Given the description of an element on the screen output the (x, y) to click on. 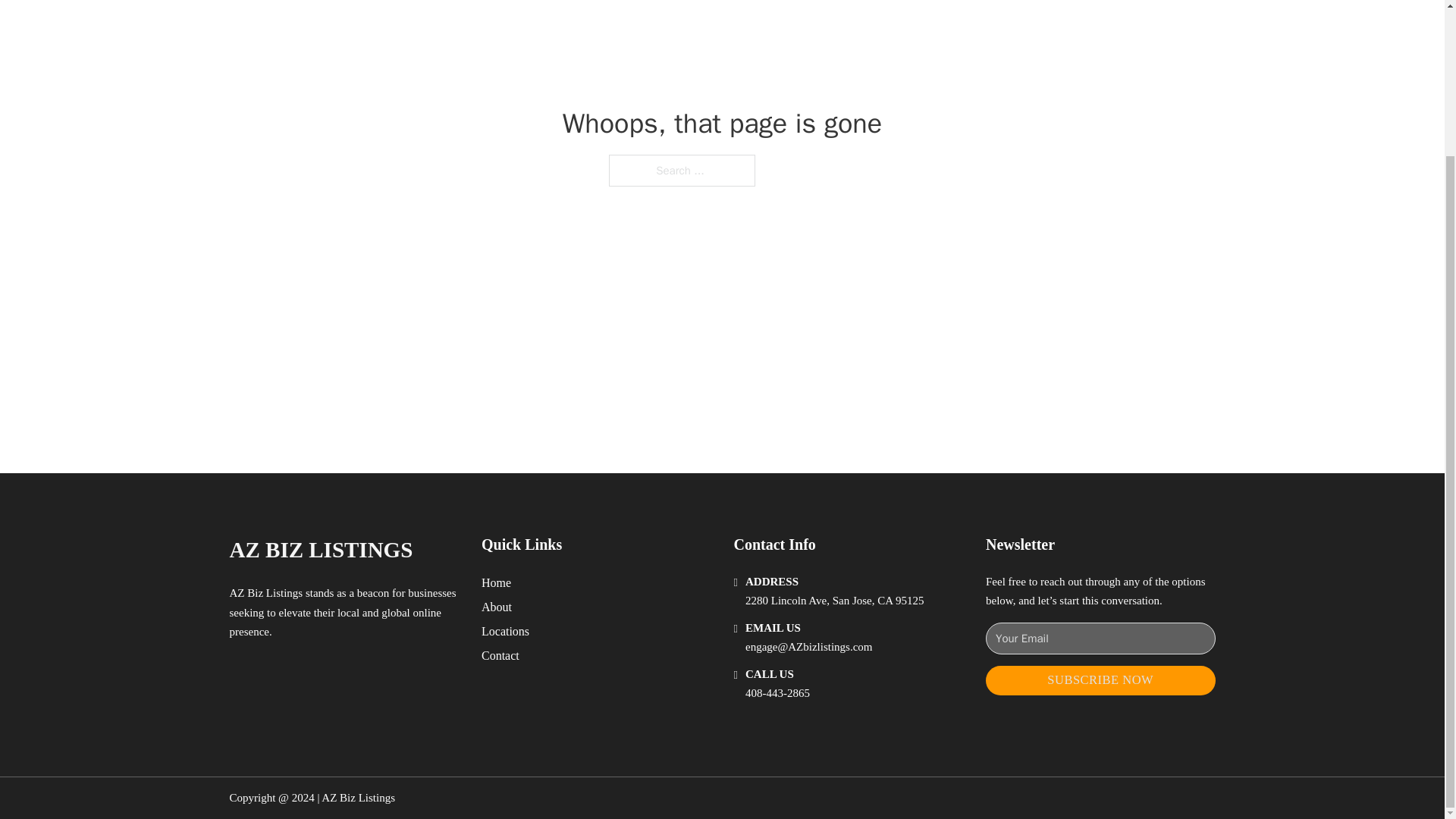
Locations (505, 630)
408-443-2865 (777, 693)
Contact (500, 655)
AZ BIZ LISTINGS (320, 549)
SUBSCRIBE NOW (1100, 680)
Home (496, 582)
About (496, 607)
